Given the description of an element on the screen output the (x, y) to click on. 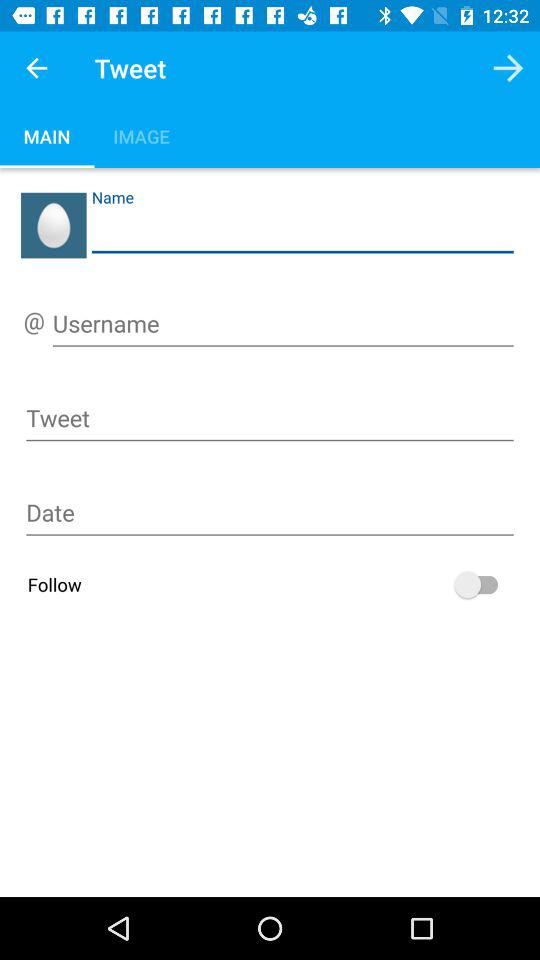
tweet (270, 421)
